Given the description of an element on the screen output the (x, y) to click on. 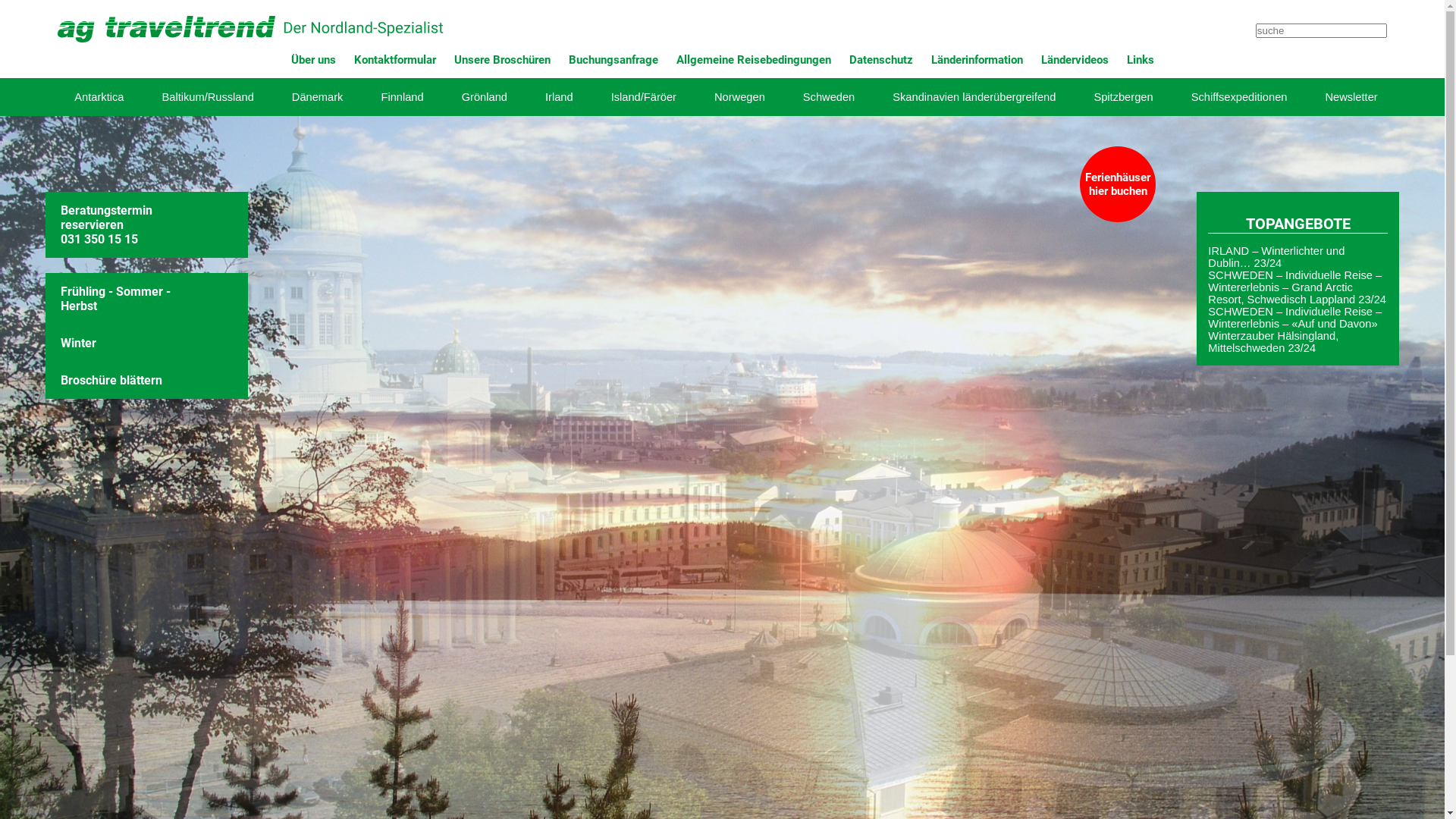
Buchungsanfrage Element type: text (613, 59)
Baltikum/Russland Element type: text (207, 97)
Antarktica Element type: text (98, 97)
Irland Element type: text (559, 97)
Schiffsexpeditionen Element type: text (1239, 97)
Finnland Element type: text (401, 97)
Norwegen Element type: text (739, 97)
Newsletter Element type: text (1350, 97)
Winter Element type: text (124, 342)
Links Element type: text (1140, 59)
Schweden Element type: text (828, 97)
Datenschutz Element type: text (880, 59)
Allgemeine Reisebedingungen Element type: text (753, 59)
Kontaktformular Element type: text (393, 59)
Spitzbergen Element type: text (1122, 97)
